Given the description of an element on the screen output the (x, y) to click on. 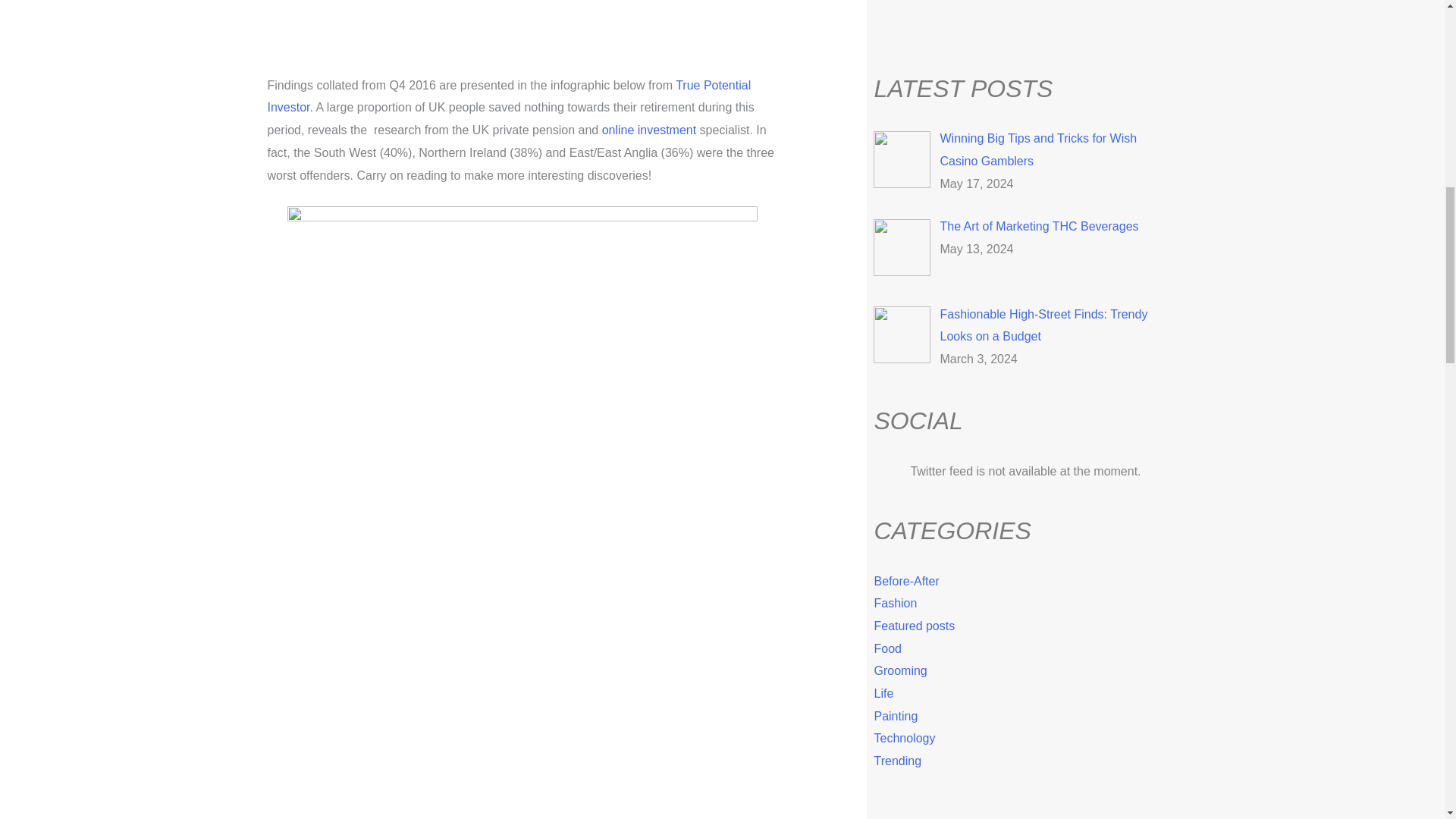
True Potential Investor (508, 96)
The Art of Marketing THC Beverages (1038, 226)
Fashionable High-Street Finds: Trendy Looks on a Budget (1043, 325)
Fashion (895, 603)
Before-After (906, 581)
Food (887, 648)
Trending (897, 760)
Technology (903, 738)
Winning Big Tips and Tricks for Wish Casino Gamblers (1038, 149)
online investment (649, 129)
